Given the description of an element on the screen output the (x, y) to click on. 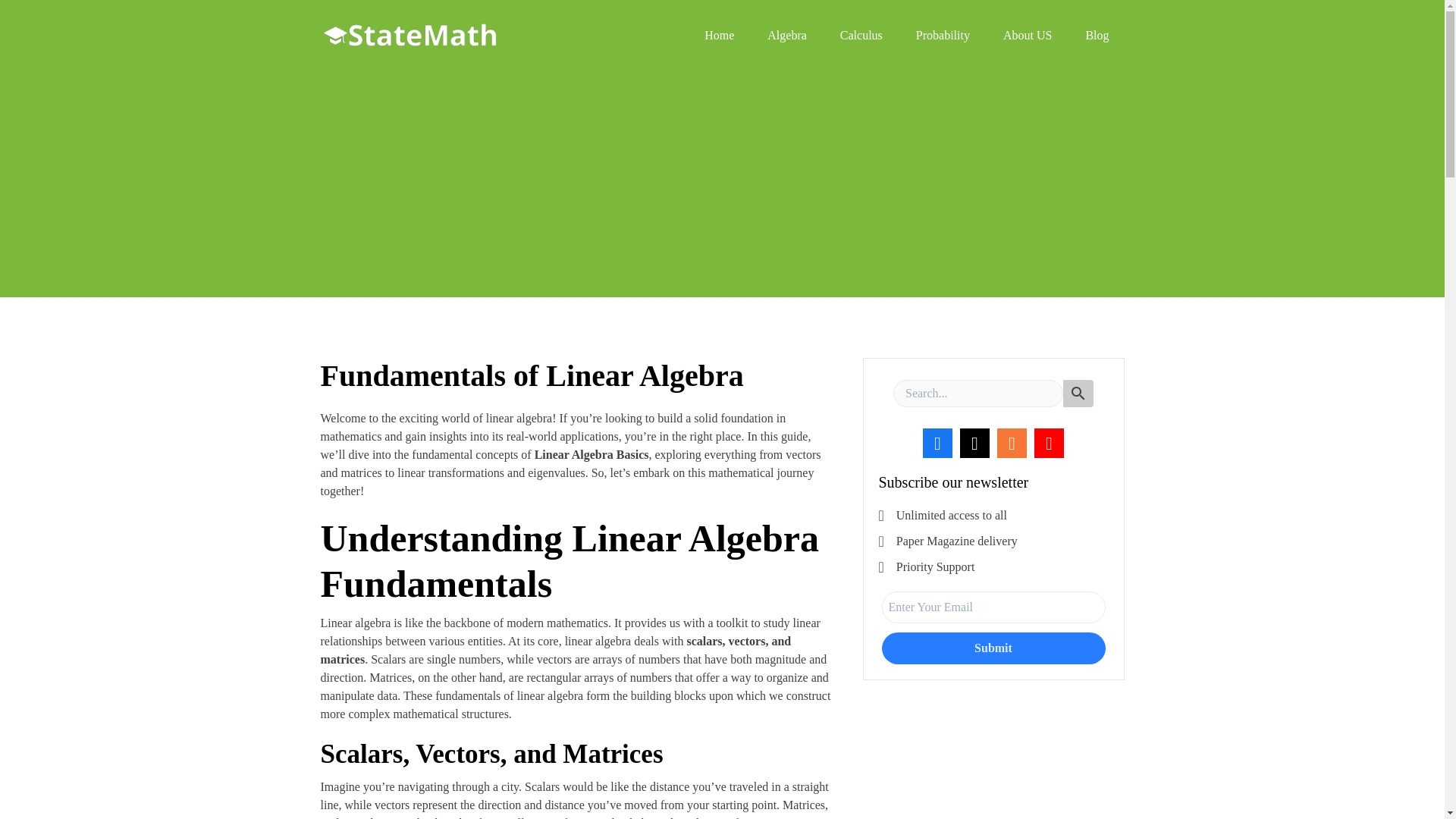
Home (718, 34)
Blog (1096, 34)
Calculus (861, 34)
Probability (942, 34)
Algebra (786, 34)
Submit (992, 648)
About US (1027, 34)
